Given the description of an element on the screen output the (x, y) to click on. 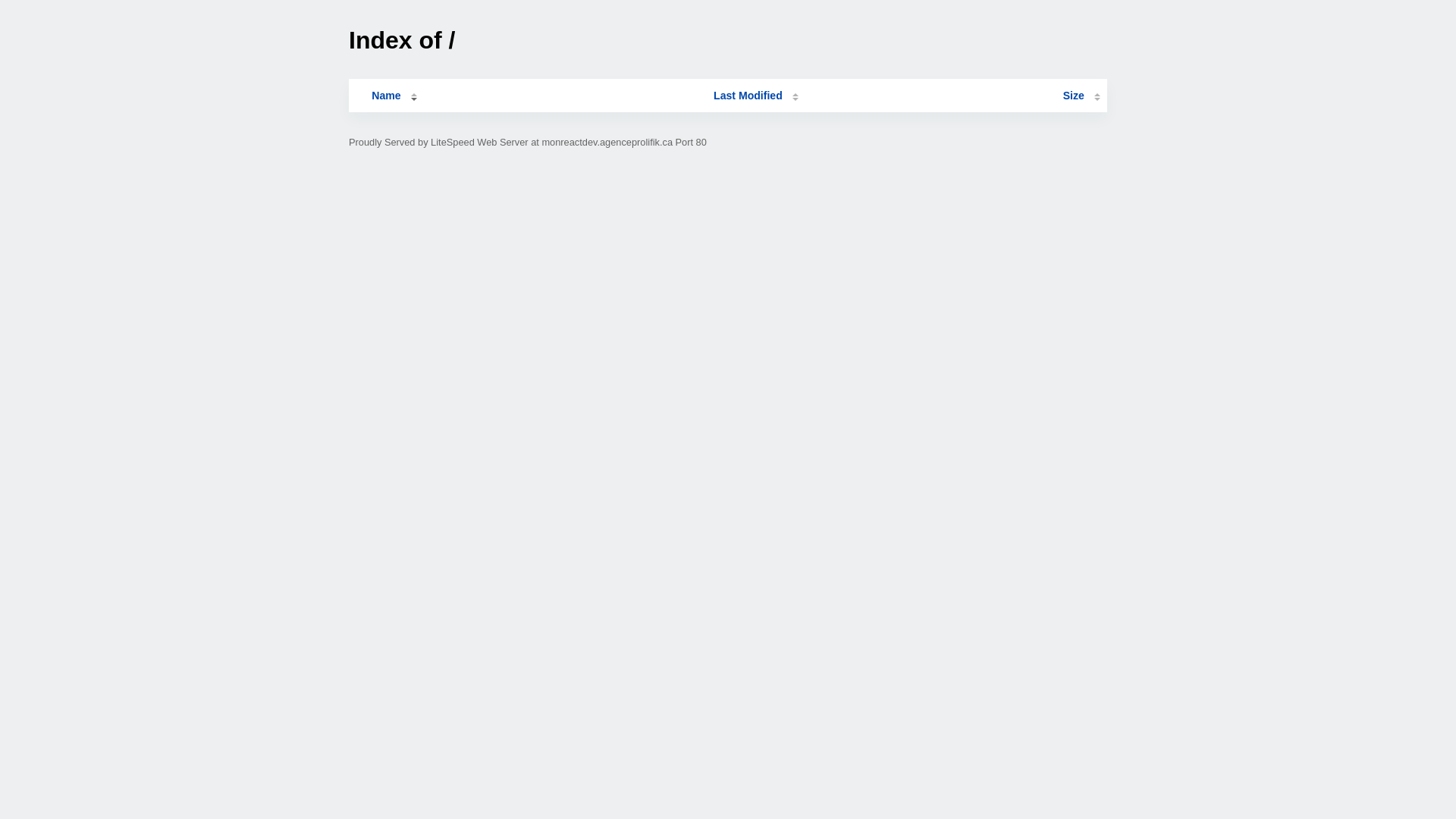
Last Modified Element type: text (755, 95)
Size Element type: text (1081, 95)
Name Element type: text (385, 95)
